Given the description of an element on the screen output the (x, y) to click on. 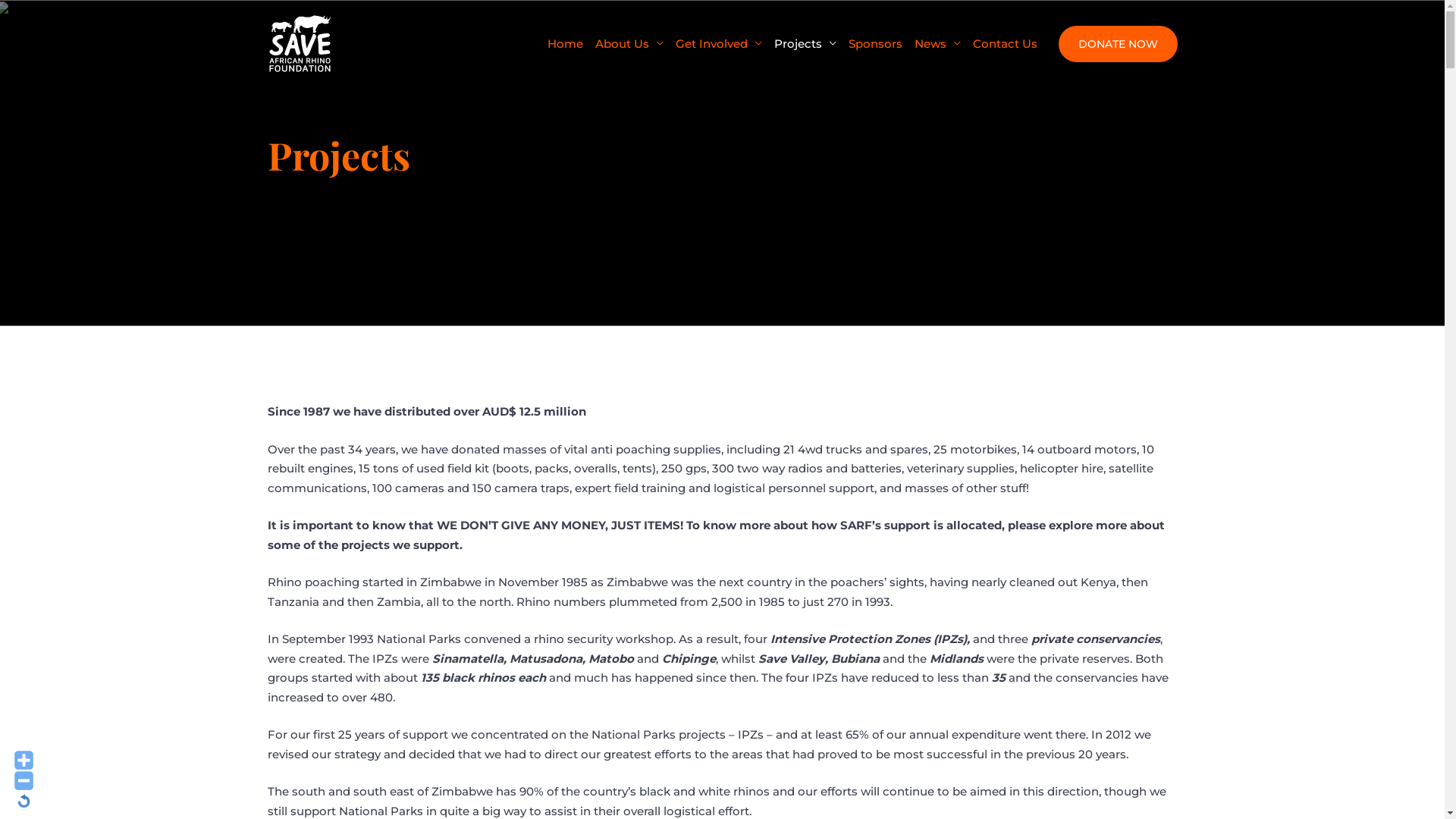
About Us Element type: text (628, 42)
Get Involved Element type: text (717, 42)
Contact Us Element type: text (1004, 42)
Decrease font size Element type: hover (23, 780)
Default font size Element type: hover (23, 800)
Projects Element type: text (804, 42)
Sponsors Element type: text (874, 42)
Home Element type: text (565, 42)
Increase font size Element type: hover (23, 759)
News Element type: text (937, 42)
DONATE NOW Element type: text (1117, 43)
